Given the description of an element on the screen output the (x, y) to click on. 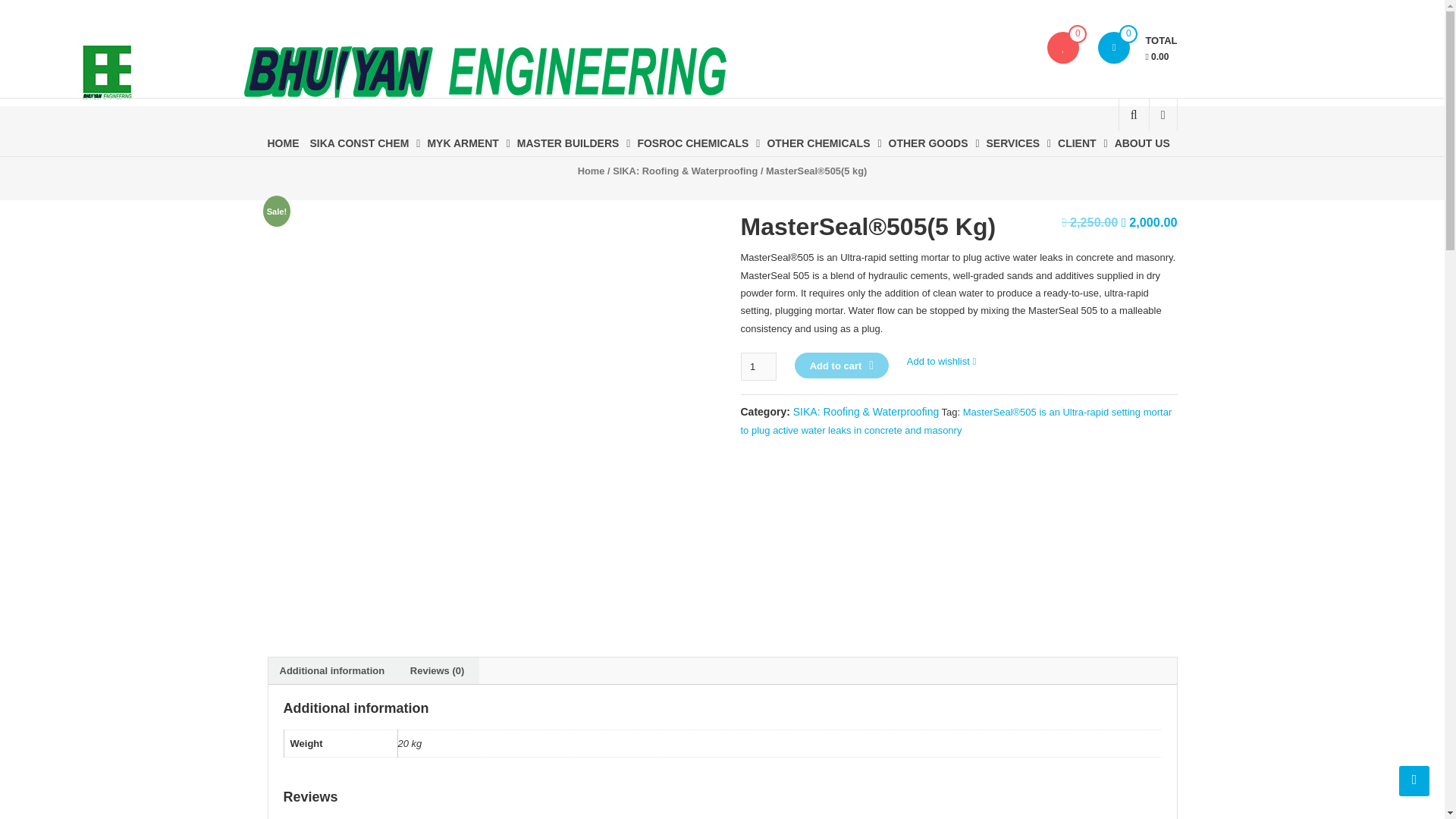
MASTER BUILDERS (568, 143)
Qty (757, 366)
SIKA CONST CHEM (358, 143)
FOSROC CHEMICALS (692, 143)
1 (757, 366)
Search (1121, 166)
OTHER CHEMICALS (818, 143)
HOME (282, 143)
MYK ARMENT (461, 143)
0 (1113, 47)
